Given the description of an element on the screen output the (x, y) to click on. 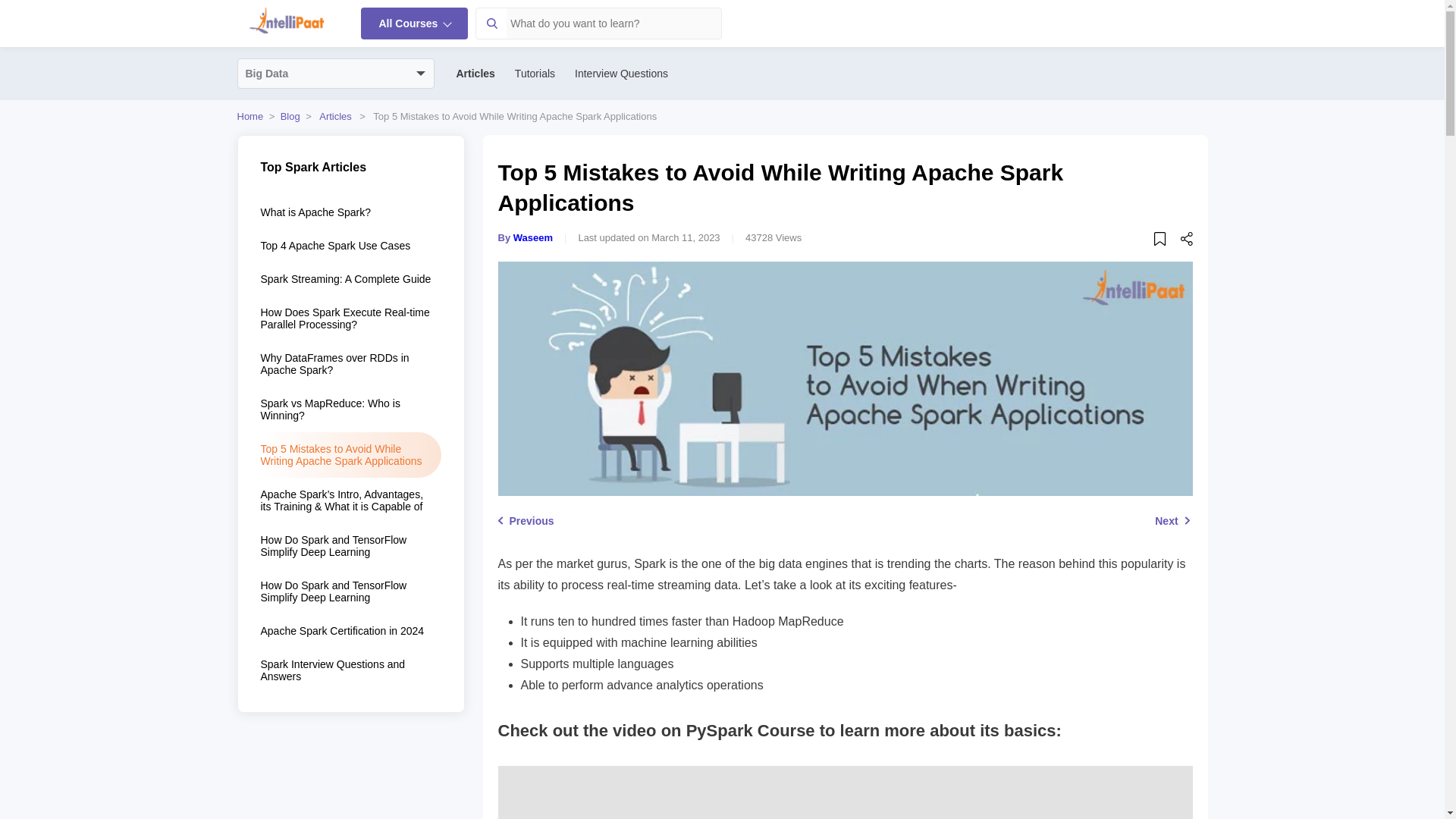
Spark Streaming: A Complete Guide (350, 278)
Waseem (533, 237)
share (1185, 241)
How Does Spark Execute Real-time Parallel Processing? (350, 318)
How Do Spark and TensorFlow Simplify Deep Learning (350, 545)
Next (1173, 521)
Home (249, 116)
Previous (525, 521)
Why DataFrames over RDDs in Apache Spark? (350, 363)
